Given the description of an element on the screen output the (x, y) to click on. 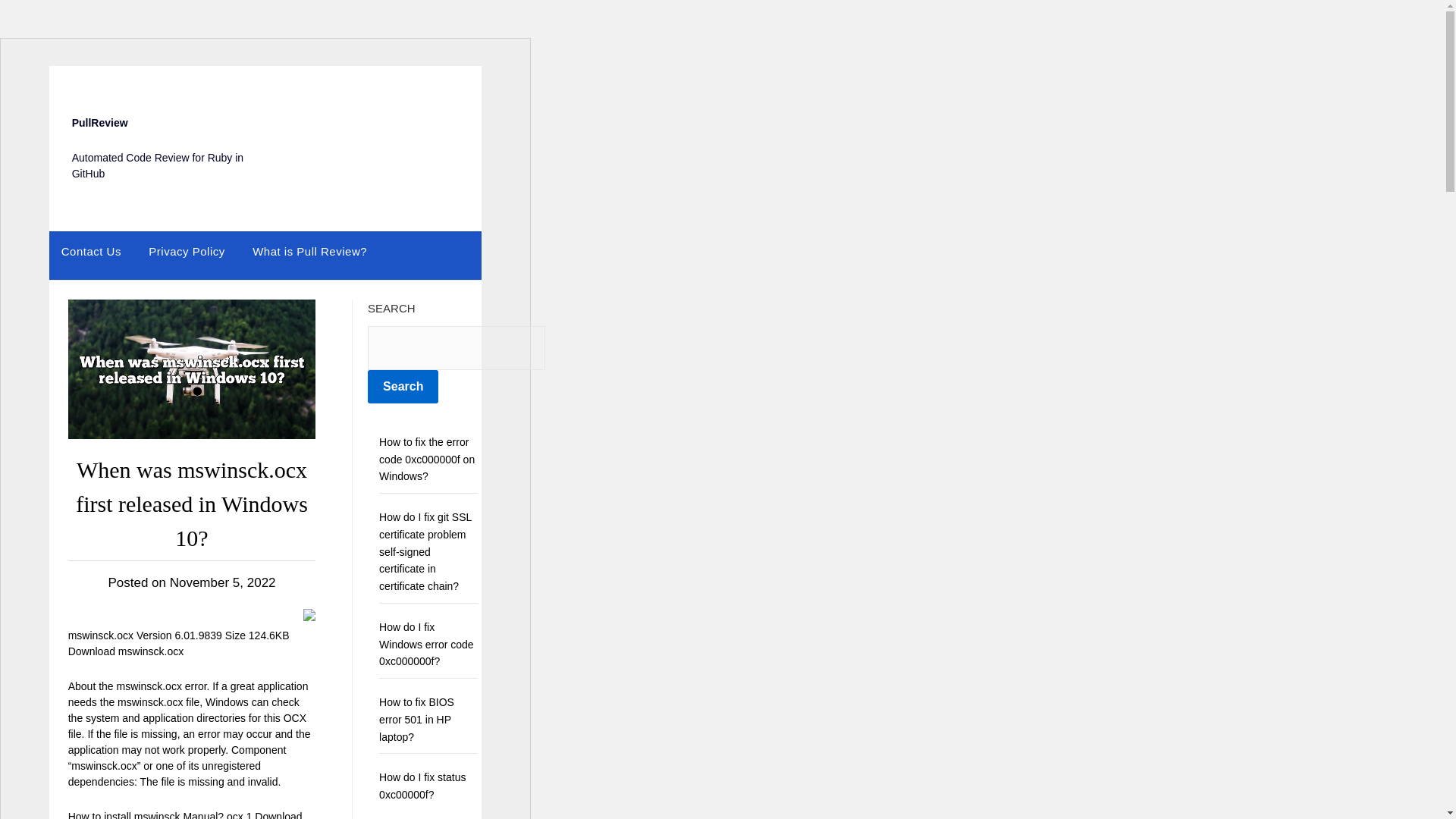
PullReview (99, 122)
Search (403, 386)
How to fix the error code 0xc000000f on Windows? (426, 459)
What is Pull Review? (309, 250)
Privacy Policy (185, 250)
Contact Us (91, 250)
How to fix BIOS error 501 in HP laptop? (416, 719)
How do I fix Windows error code 0xc000000f? (426, 644)
How do I fix status 0xc00000f? (421, 785)
